Given the description of an element on the screen output the (x, y) to click on. 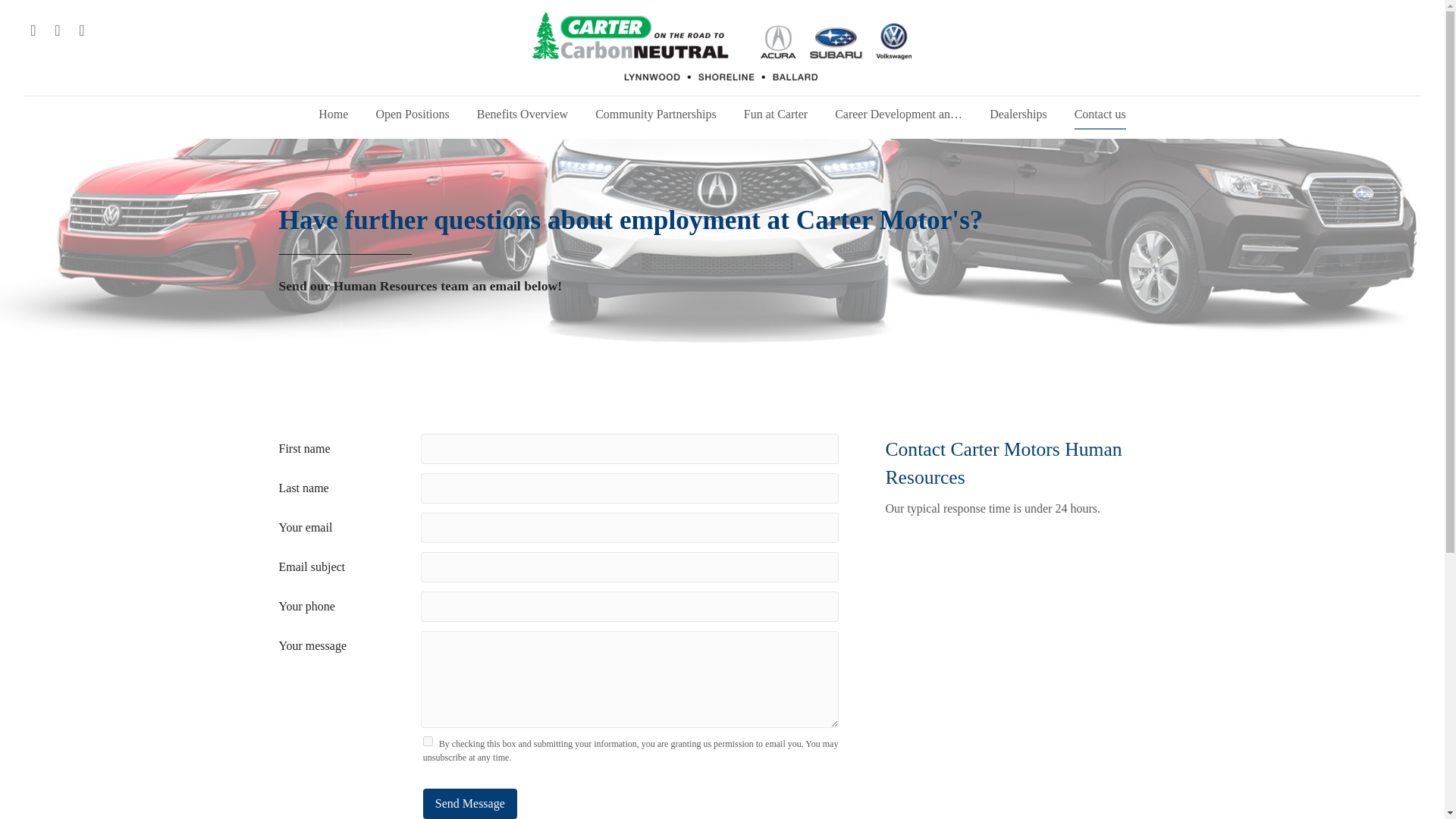
Community Partnerships (656, 114)
false (427, 741)
Open Positions (411, 114)
Career Development and Blog (898, 114)
Contact us (1100, 114)
Dealerships (1017, 114)
Send Message (469, 803)
Home (332, 114)
Benefits Overview (521, 114)
Fun at Carter (775, 114)
